Given the description of an element on the screen output the (x, y) to click on. 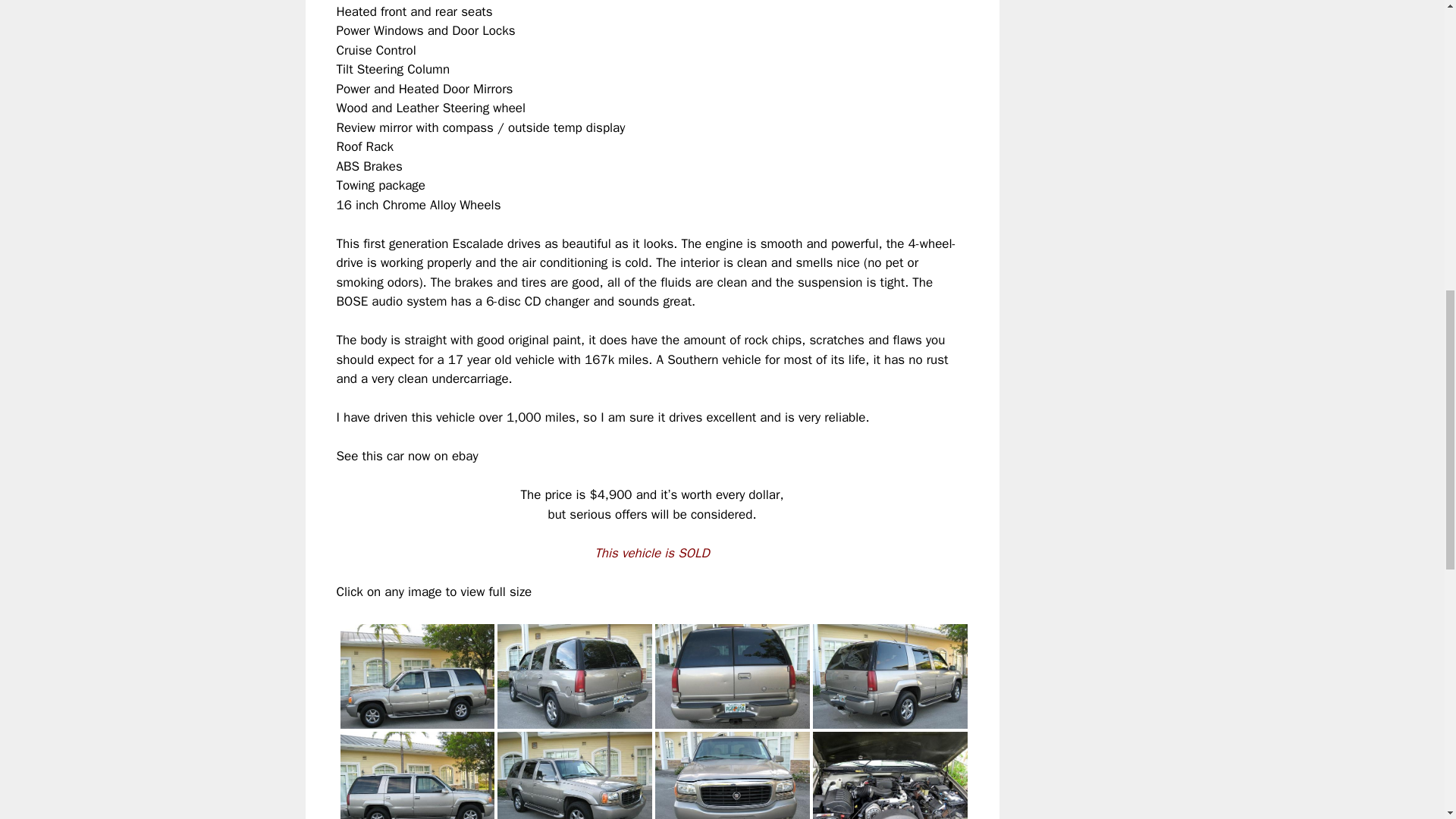
Cadillac Escalade 5.7 V8 Engine (890, 772)
